Given the description of an element on the screen output the (x, y) to click on. 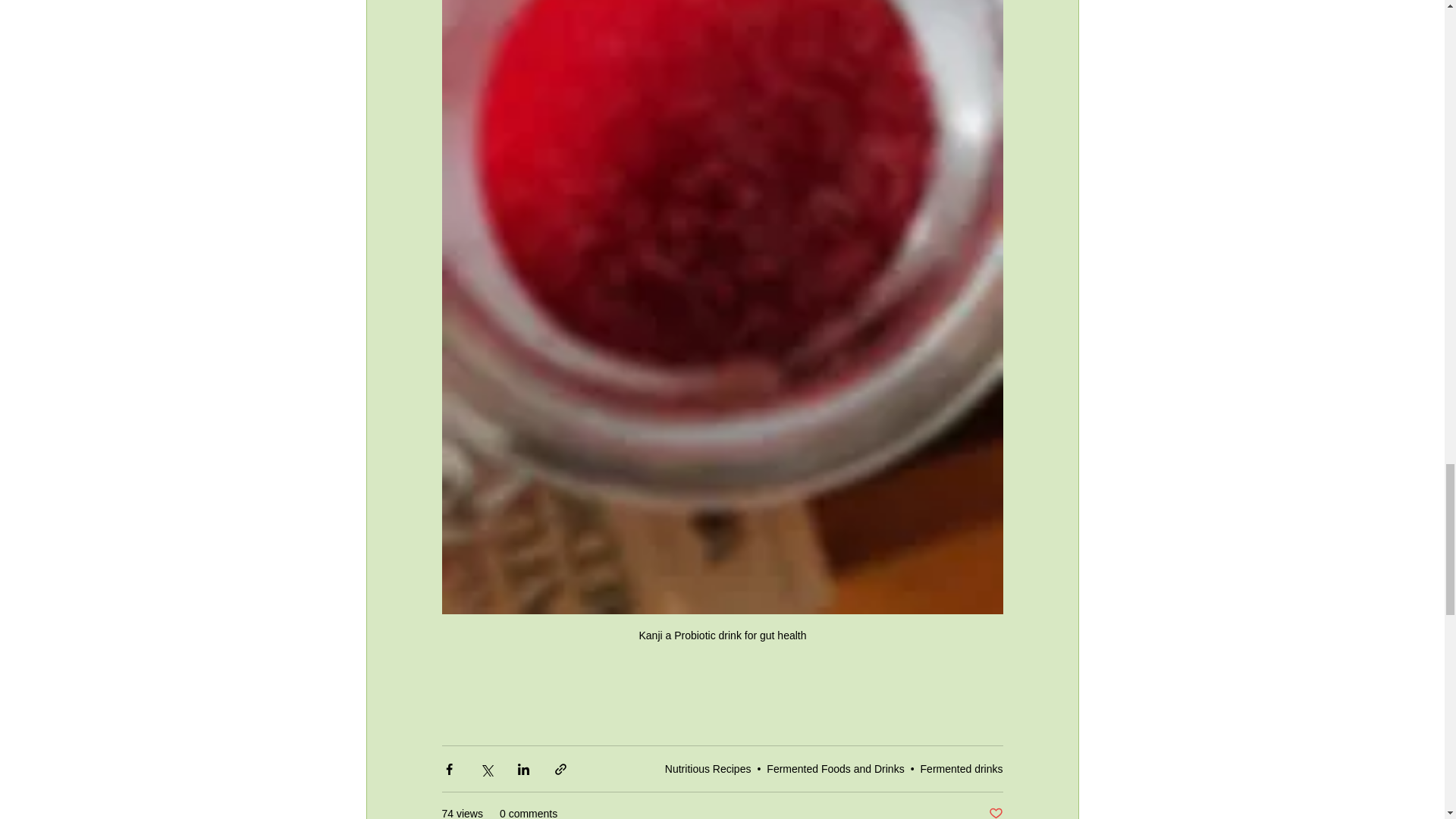
Fermented Foods and Drinks (835, 768)
Fermented drinks (961, 768)
Nutritious Recipes (708, 768)
Post not marked as liked (995, 812)
